Given the description of an element on the screen output the (x, y) to click on. 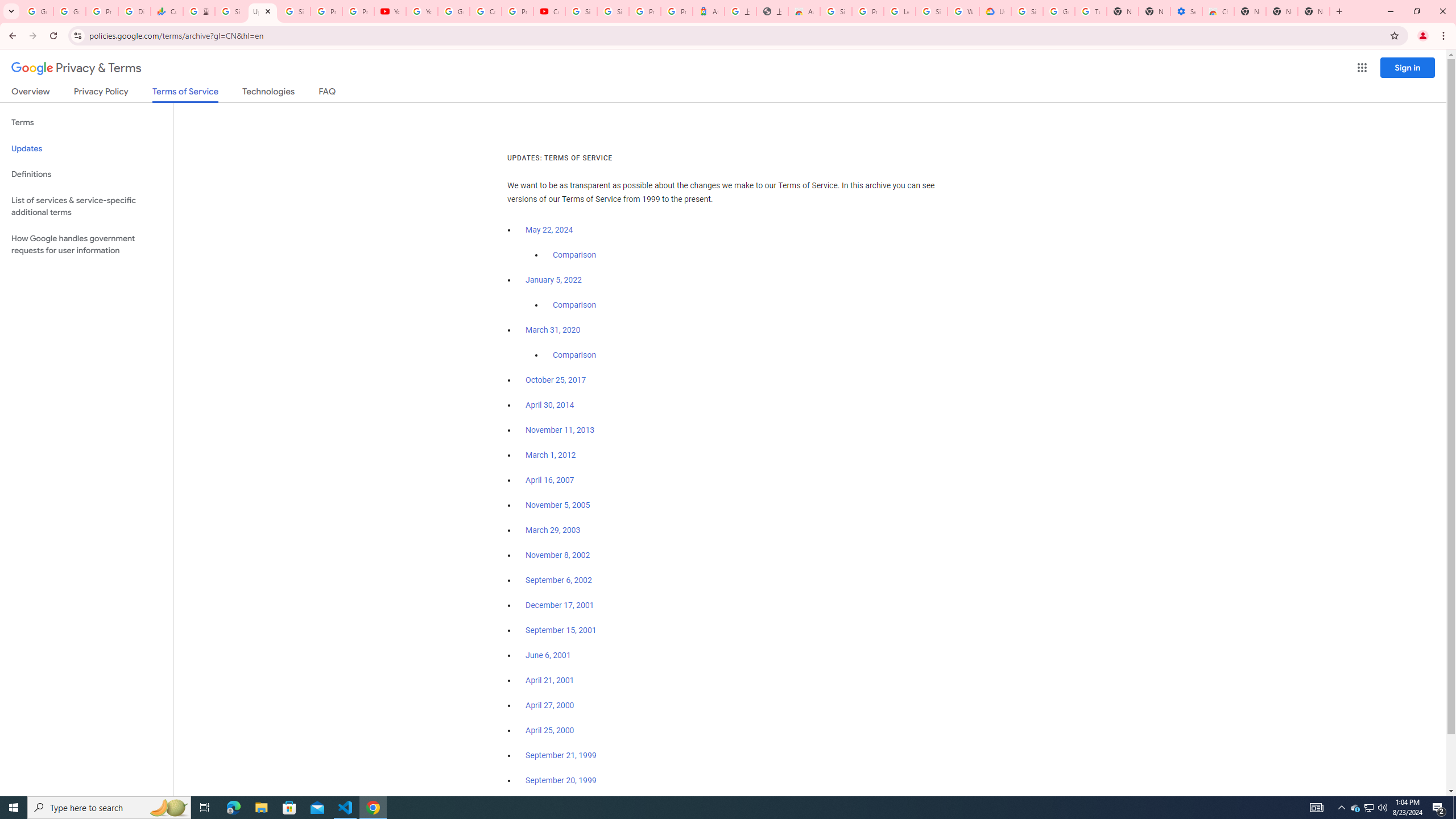
YouTube (389, 11)
November 11, 2013 (560, 430)
March 1, 2012 (550, 455)
Atour Hotel - Google hotels (708, 11)
Turn cookies on or off - Computer - Google Account Help (1091, 11)
November 8, 2002 (557, 555)
Chrome Web Store - Accessibility extensions (1217, 11)
Sign in - Google Accounts (613, 11)
